Given the description of an element on the screen output the (x, y) to click on. 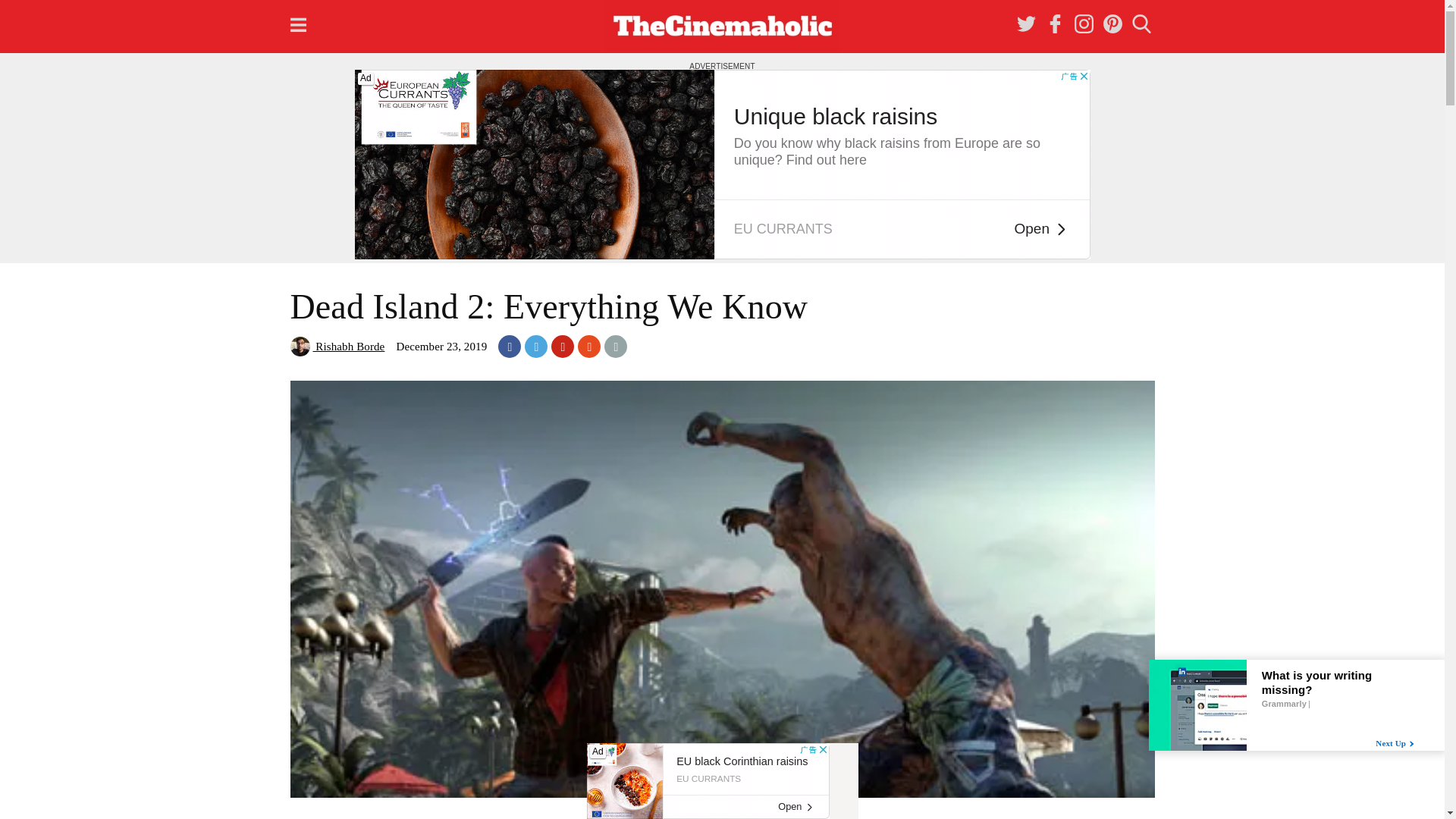
Rishabh Borde (336, 346)
